Given the description of an element on the screen output the (x, y) to click on. 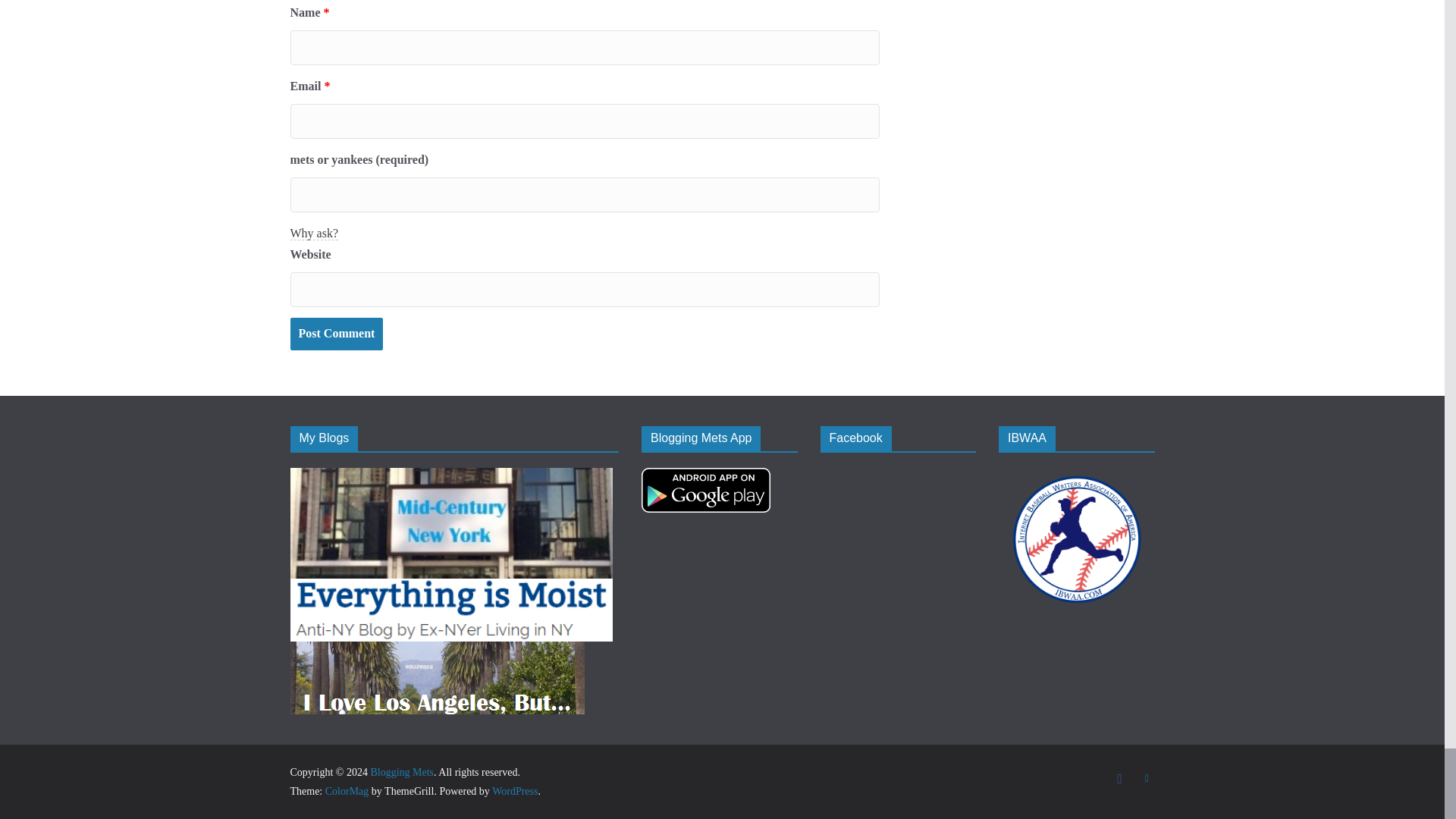
Post Comment (335, 333)
